Given the description of an element on the screen output the (x, y) to click on. 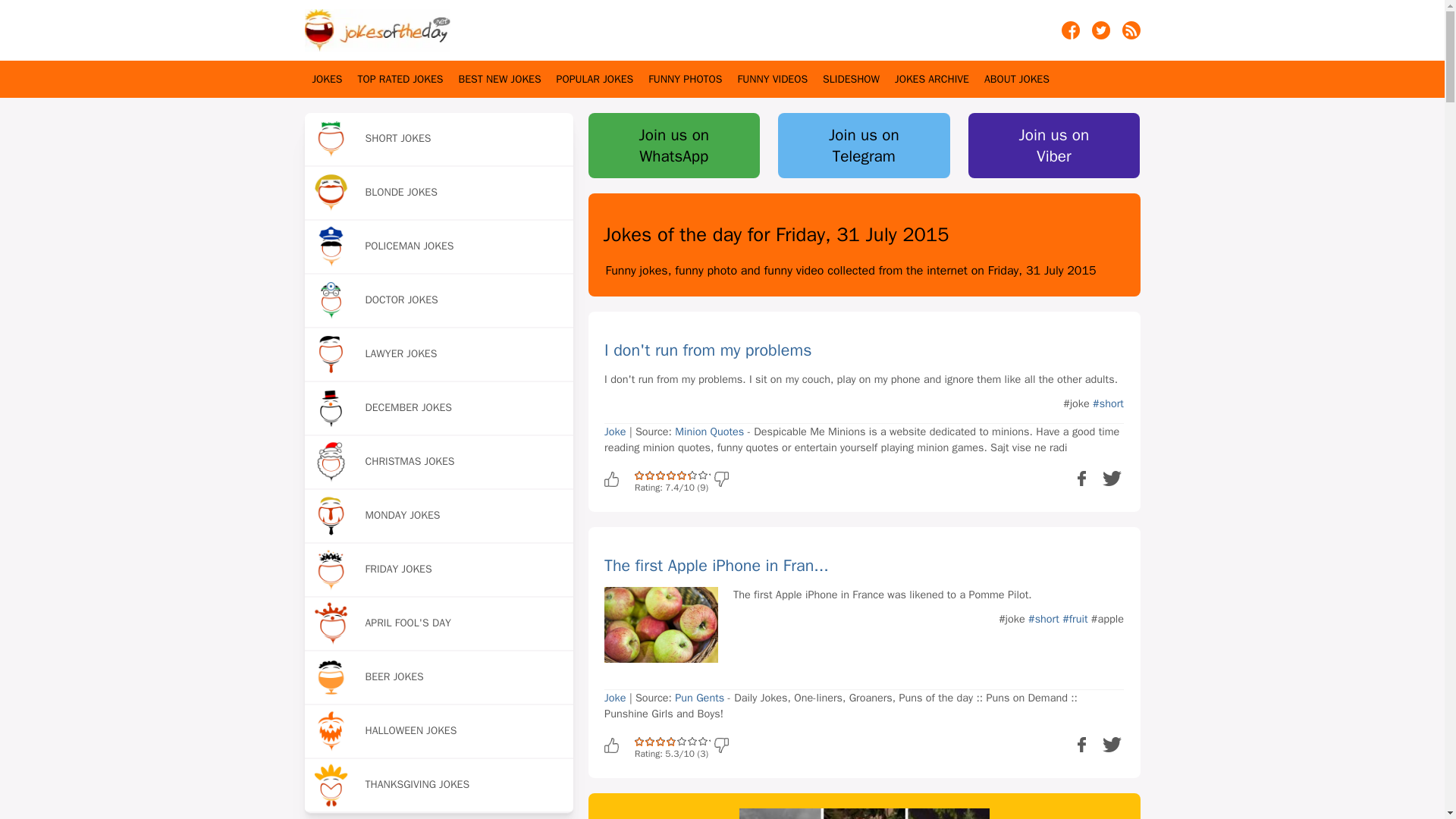
Pun Gents (699, 697)
Slideshow (850, 78)
POPULAR JOKES (594, 78)
Joke (615, 431)
Funny Videos (772, 78)
JOKES ARCHIVE (932, 78)
FUNNY VIDEOS (772, 78)
The best jokes in the last 4 weeks (499, 78)
ABOUT JOKES (1016, 78)
FUNNY PHOTOS (684, 78)
Jokes (327, 78)
Follow jokes of the day on Facebook (1070, 35)
SLIDESHOW (850, 78)
JOKES (327, 78)
Popular Jokes (594, 78)
